Given the description of an element on the screen output the (x, y) to click on. 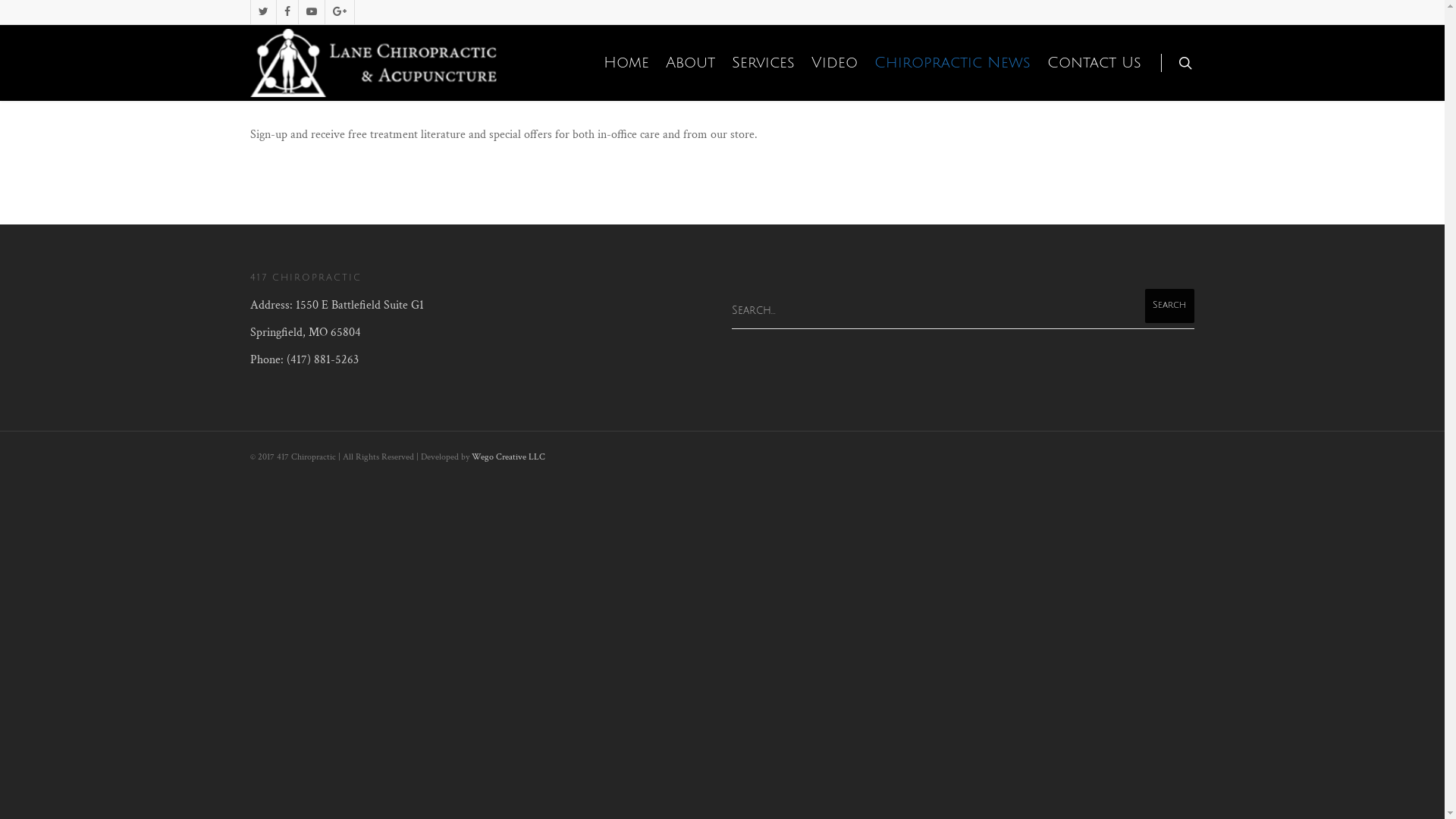
Video Element type: text (834, 64)
Chiropractic News Element type: text (952, 64)
Search Element type: text (1169, 305)
Home Element type: text (626, 64)
About Element type: text (690, 64)
Wego Creative LLC Element type: text (508, 456)
Search for: Element type: hover (962, 310)
Contact Us Element type: text (1093, 64)
Services Element type: text (763, 64)
